Given the description of an element on the screen output the (x, y) to click on. 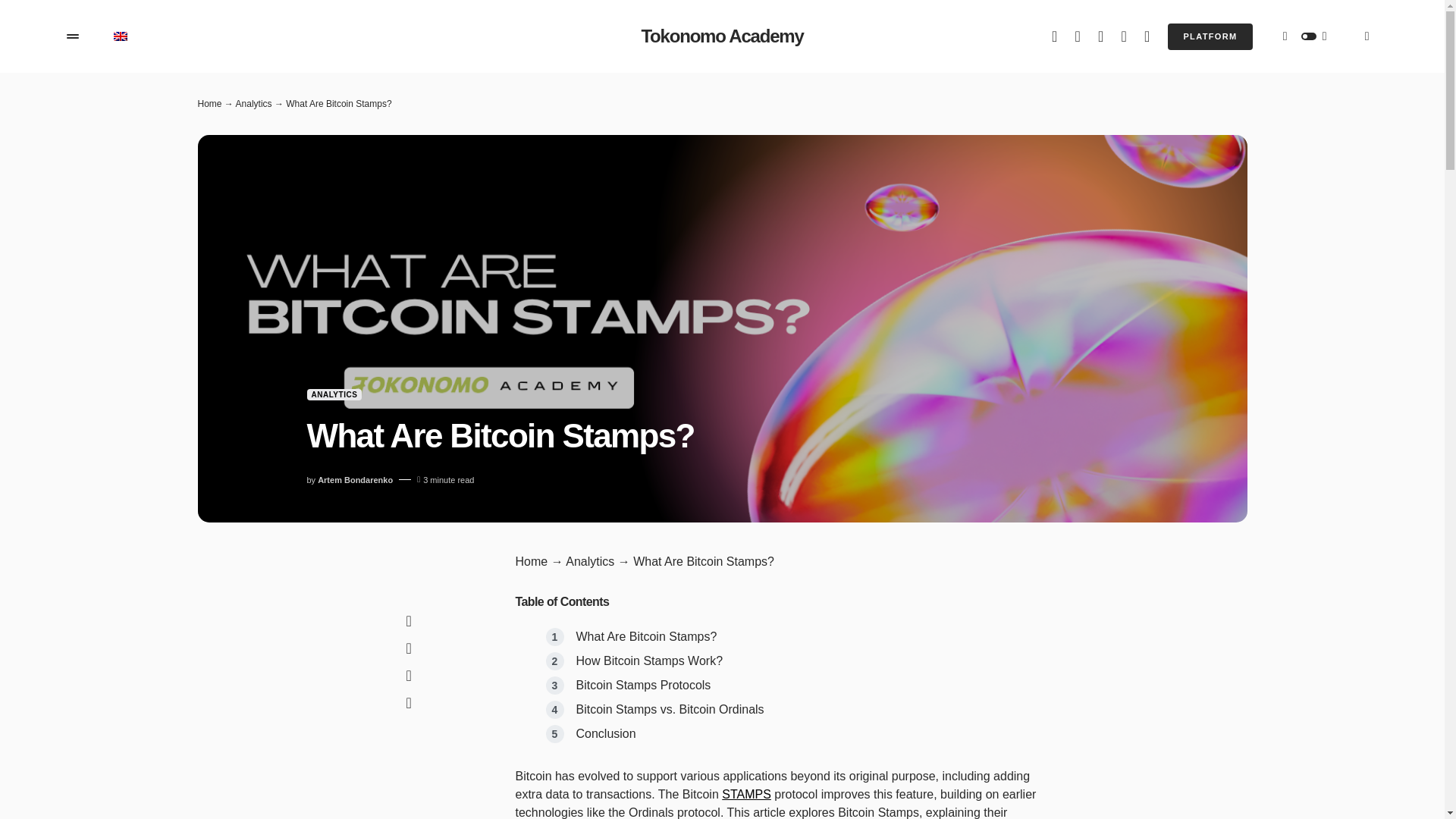
Tokonomo Academy (721, 35)
View all posts by Artem Bondarenko (355, 480)
